Given the description of an element on the screen output the (x, y) to click on. 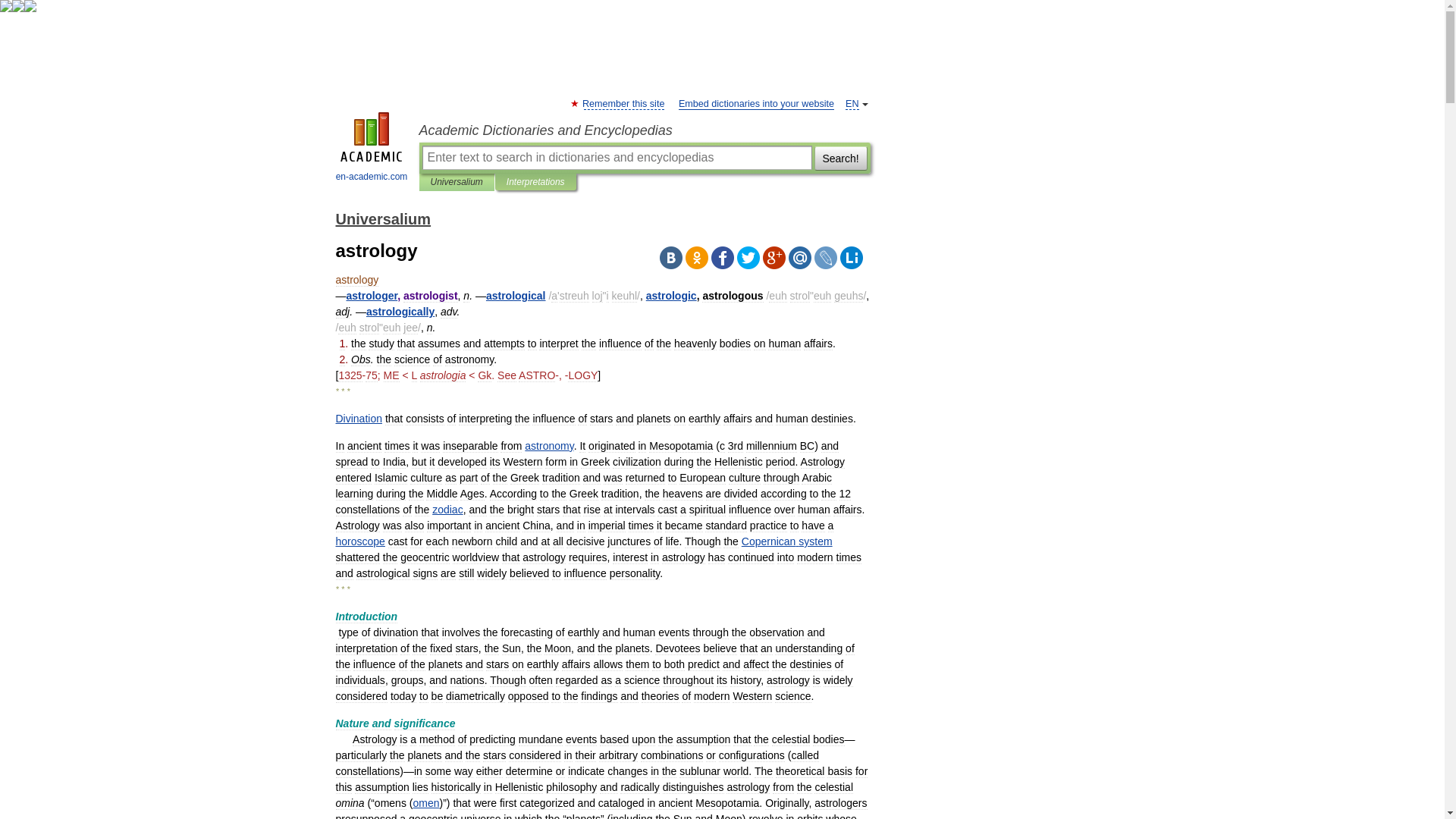
Copernican system (786, 541)
Search! (840, 157)
Enter text to search in dictionaries and encyclopedias (616, 157)
astrologic (671, 295)
zodiac (447, 509)
Interpretations (535, 181)
Divination (357, 418)
EN (852, 103)
astrological (516, 295)
horoscope (359, 541)
